Given the description of an element on the screen output the (x, y) to click on. 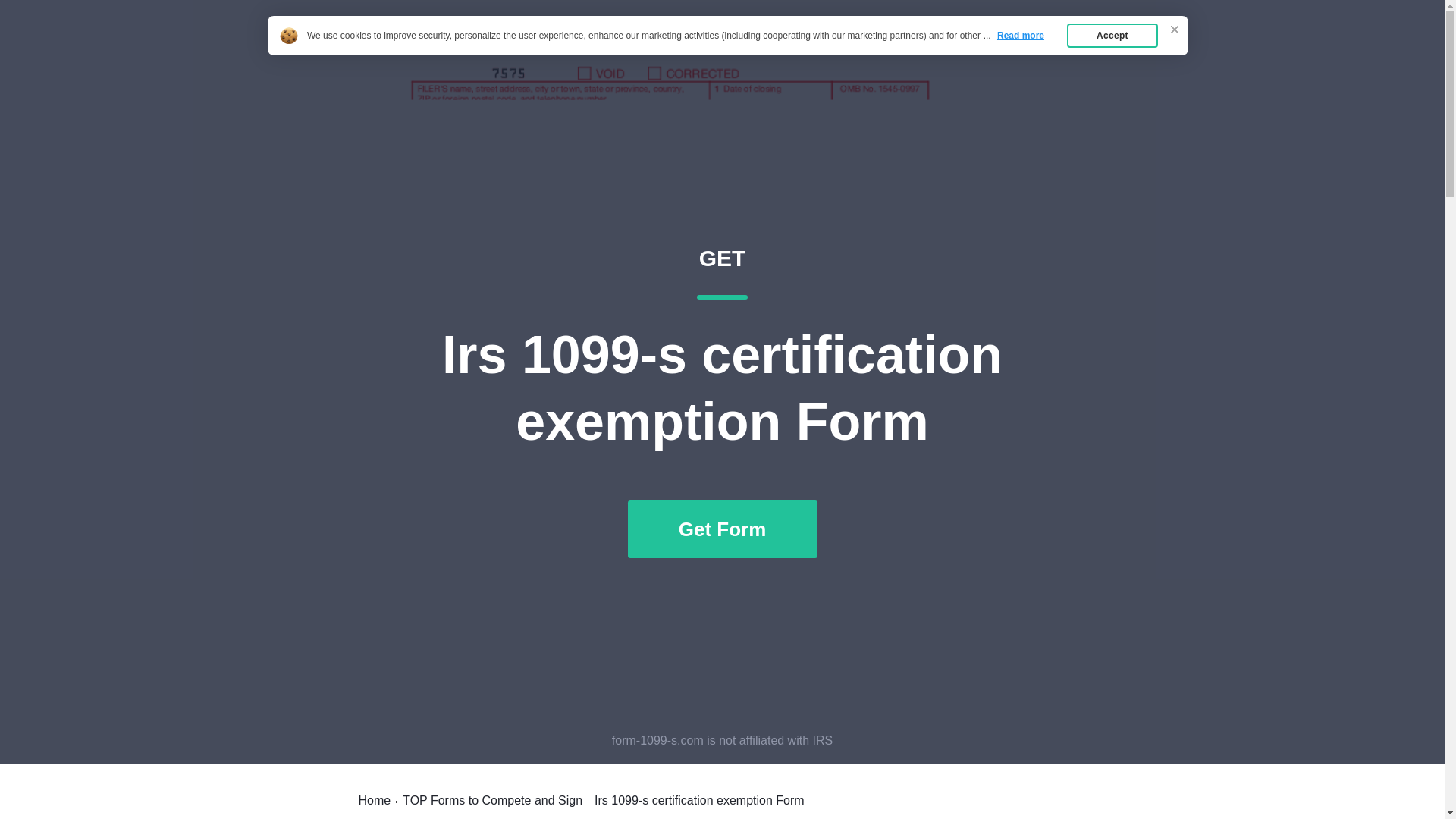
Form 1099 S (406, 46)
Home (374, 800)
Top Forms (935, 47)
FAQ (1062, 47)
TOP Forms to Compete and Sign (993, 47)
